Given the description of an element on the screen output the (x, y) to click on. 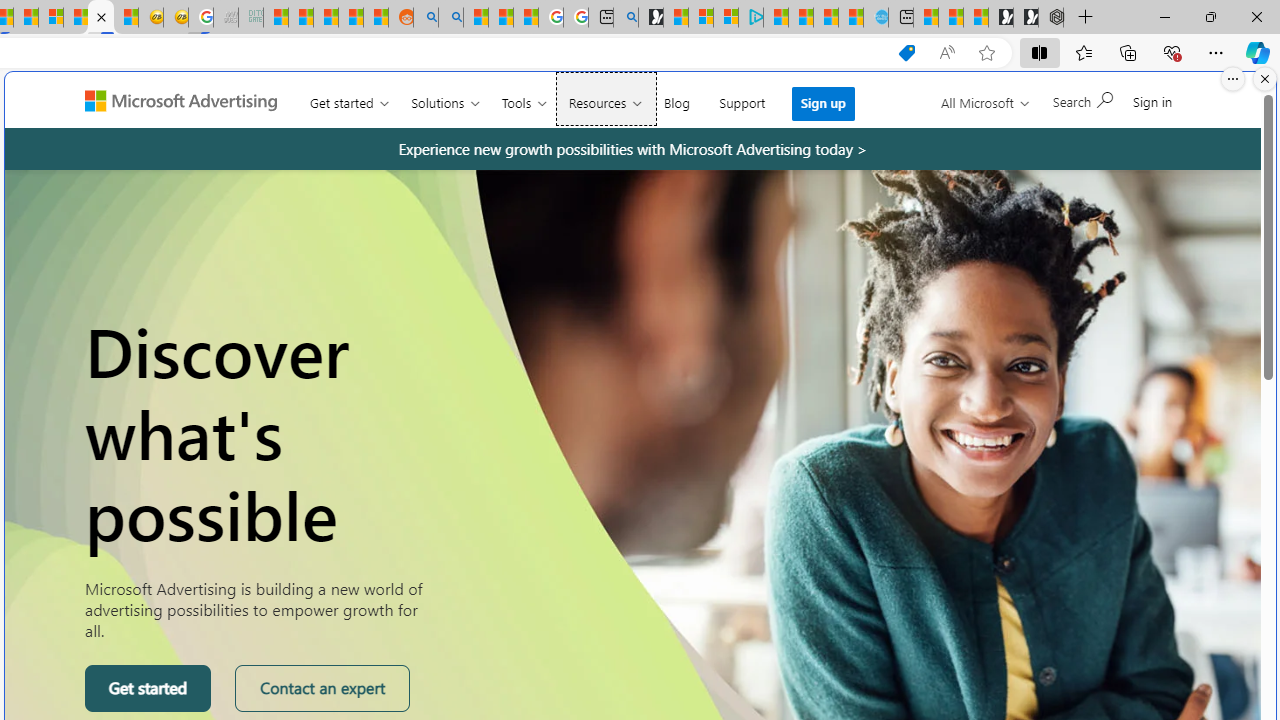
Blog (676, 98)
Support (742, 98)
